Given the description of an element on the screen output the (x, y) to click on. 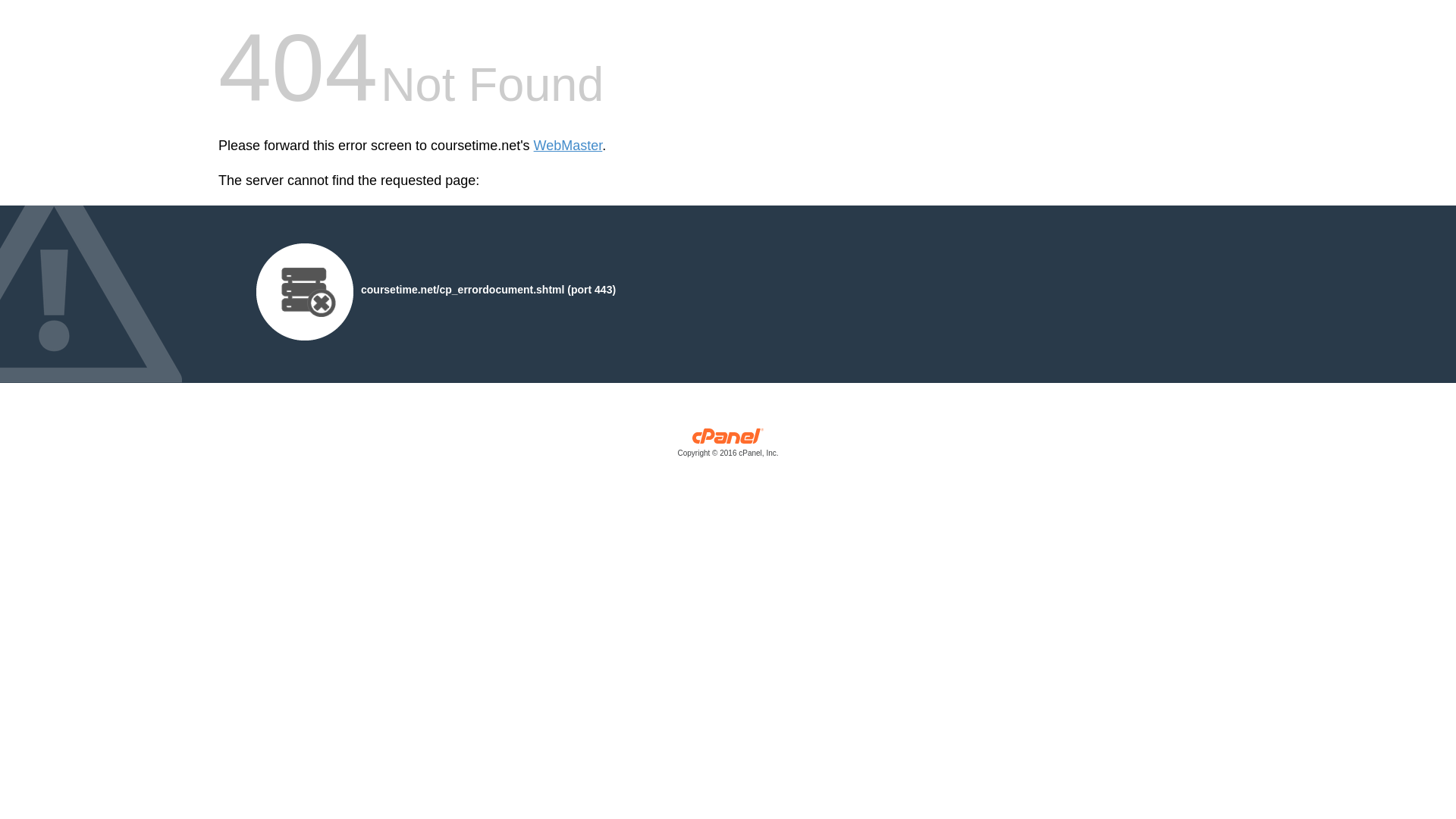
WebMaster (568, 145)
cPanel, Inc. (727, 446)
